Given the description of an element on the screen output the (x, y) to click on. 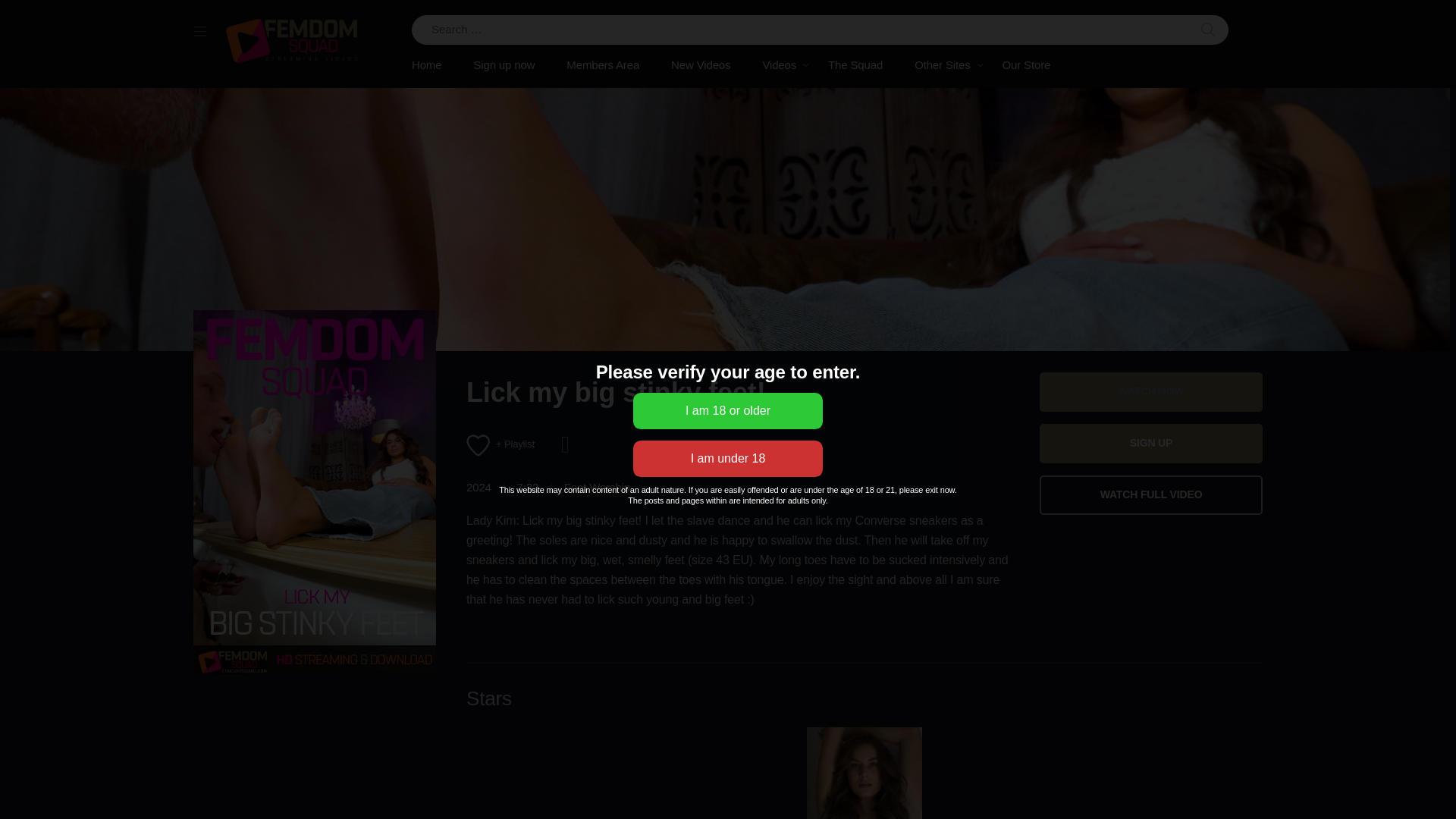
I am 18 or older (727, 411)
Sign up now (503, 65)
Videos (778, 65)
Members Area (602, 65)
I am under 18 (727, 458)
SEARCH (1208, 29)
The Squad (855, 65)
New Videos (700, 65)
Home (434, 65)
Other Sites (941, 65)
